Given the description of an element on the screen output the (x, y) to click on. 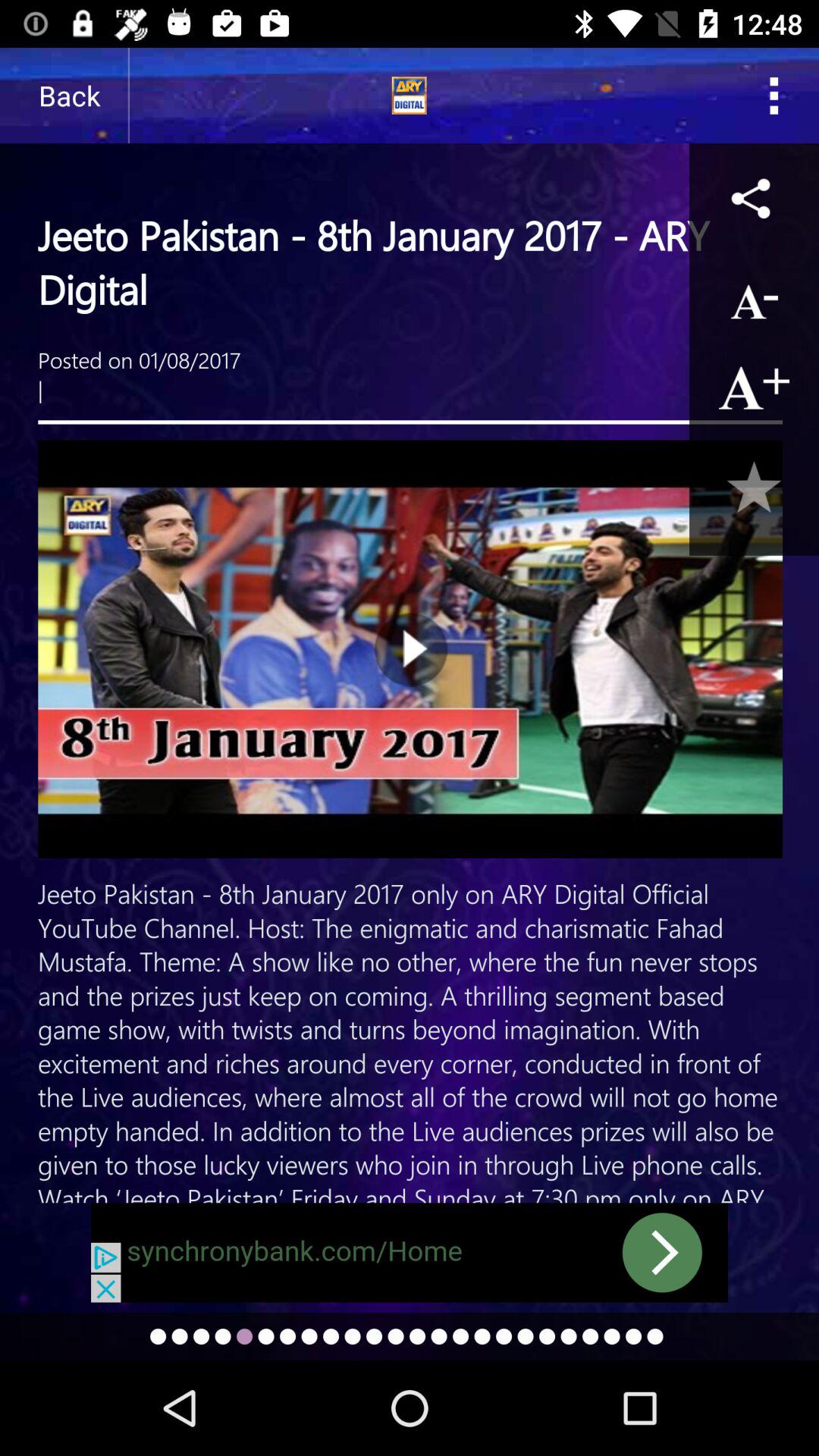
share article (754, 197)
